Given the description of an element on the screen output the (x, y) to click on. 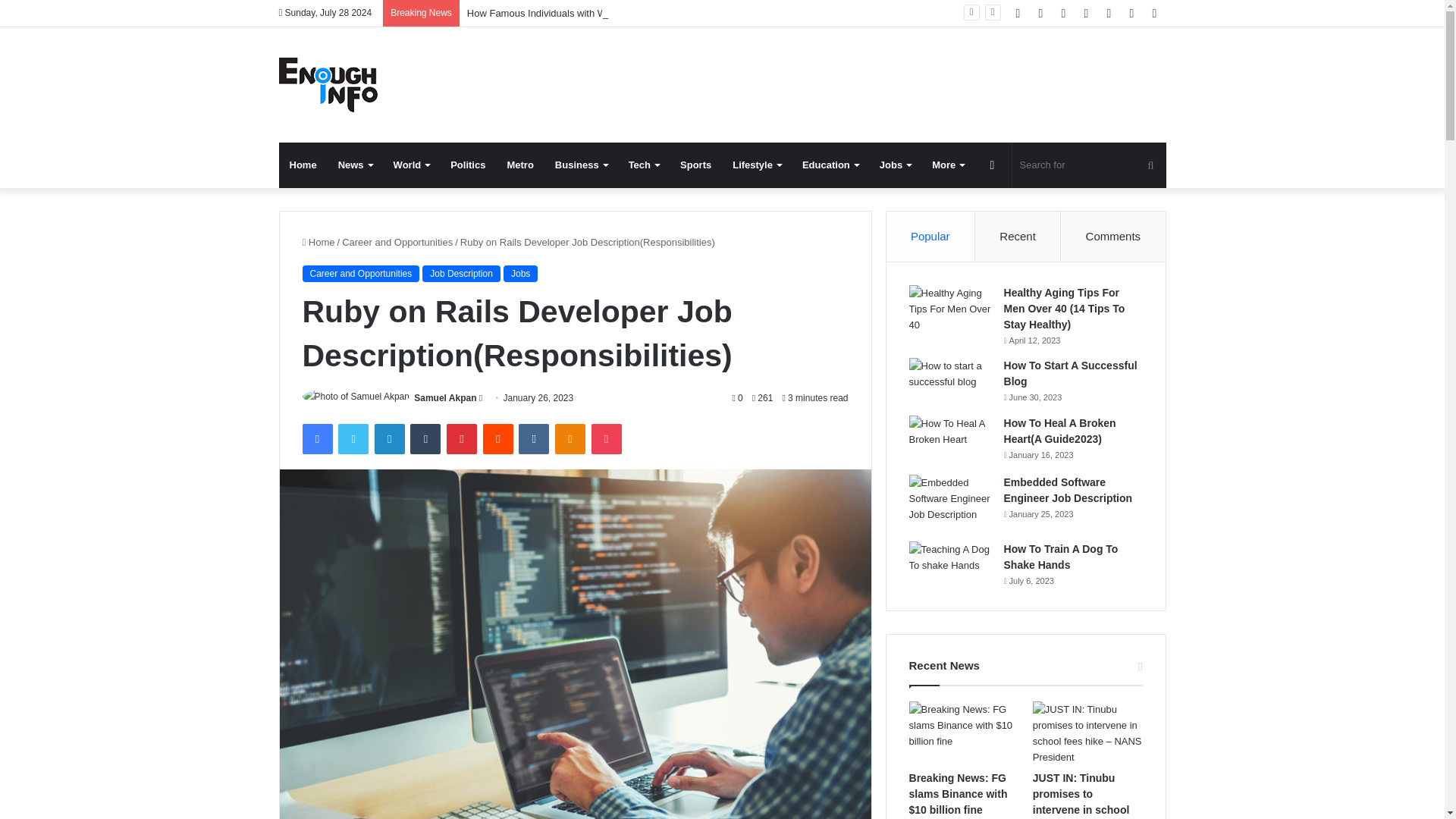
Business (580, 165)
VKontakte (533, 439)
YouTube (1063, 13)
Facebook (1018, 13)
Random Article (1131, 13)
Log In (1109, 13)
Pinterest (461, 439)
Tech (643, 165)
EnoughInfo - Daily information and reference blog (328, 84)
Random Article (992, 165)
Random Article (1131, 13)
Politics (467, 165)
Instagram (1086, 13)
